Given the description of an element on the screen output the (x, y) to click on. 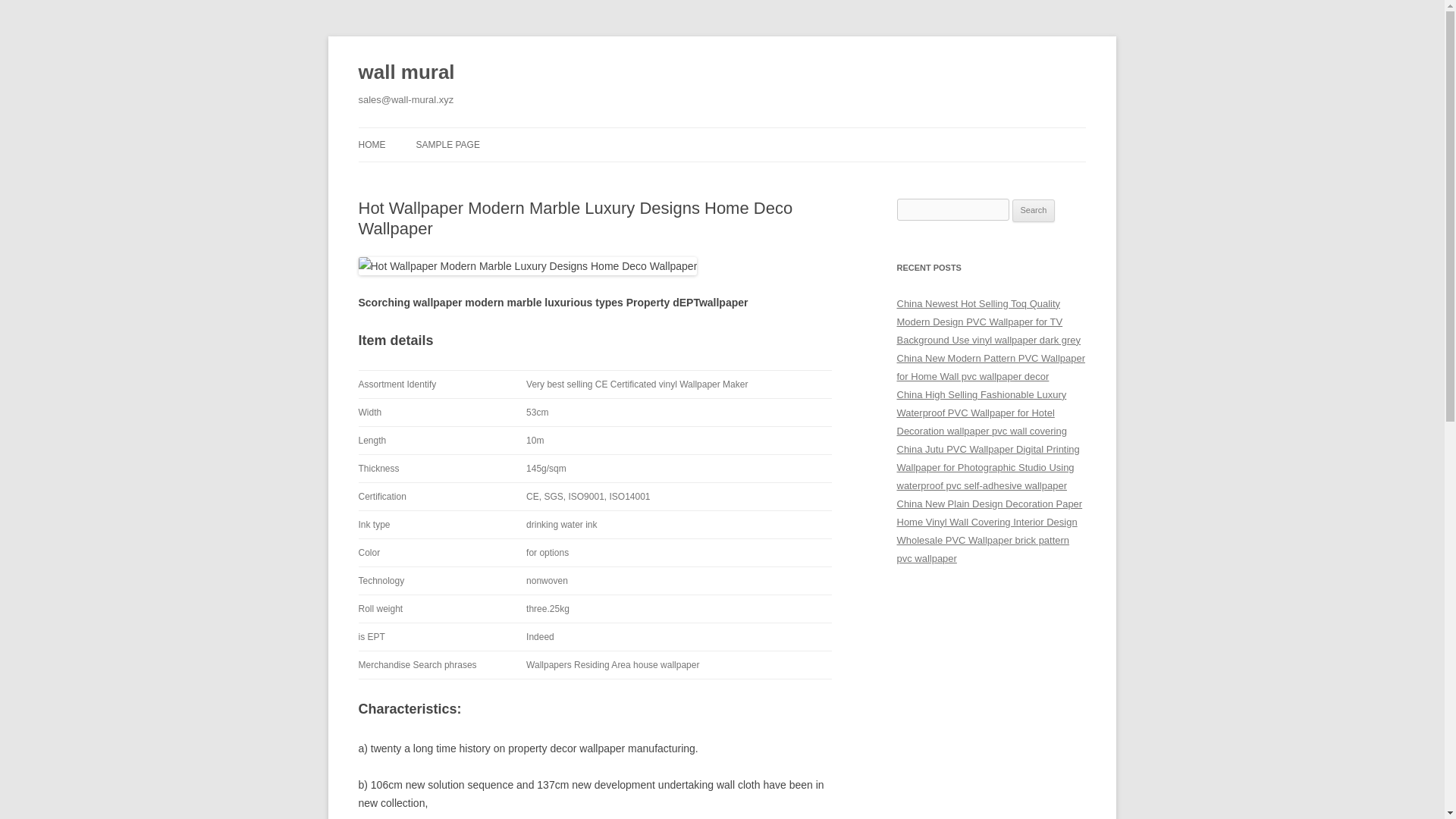
wall mural (406, 72)
Search (1033, 210)
Search (1033, 210)
wall mural (406, 72)
SAMPLE PAGE (446, 144)
